Given the description of an element on the screen output the (x, y) to click on. 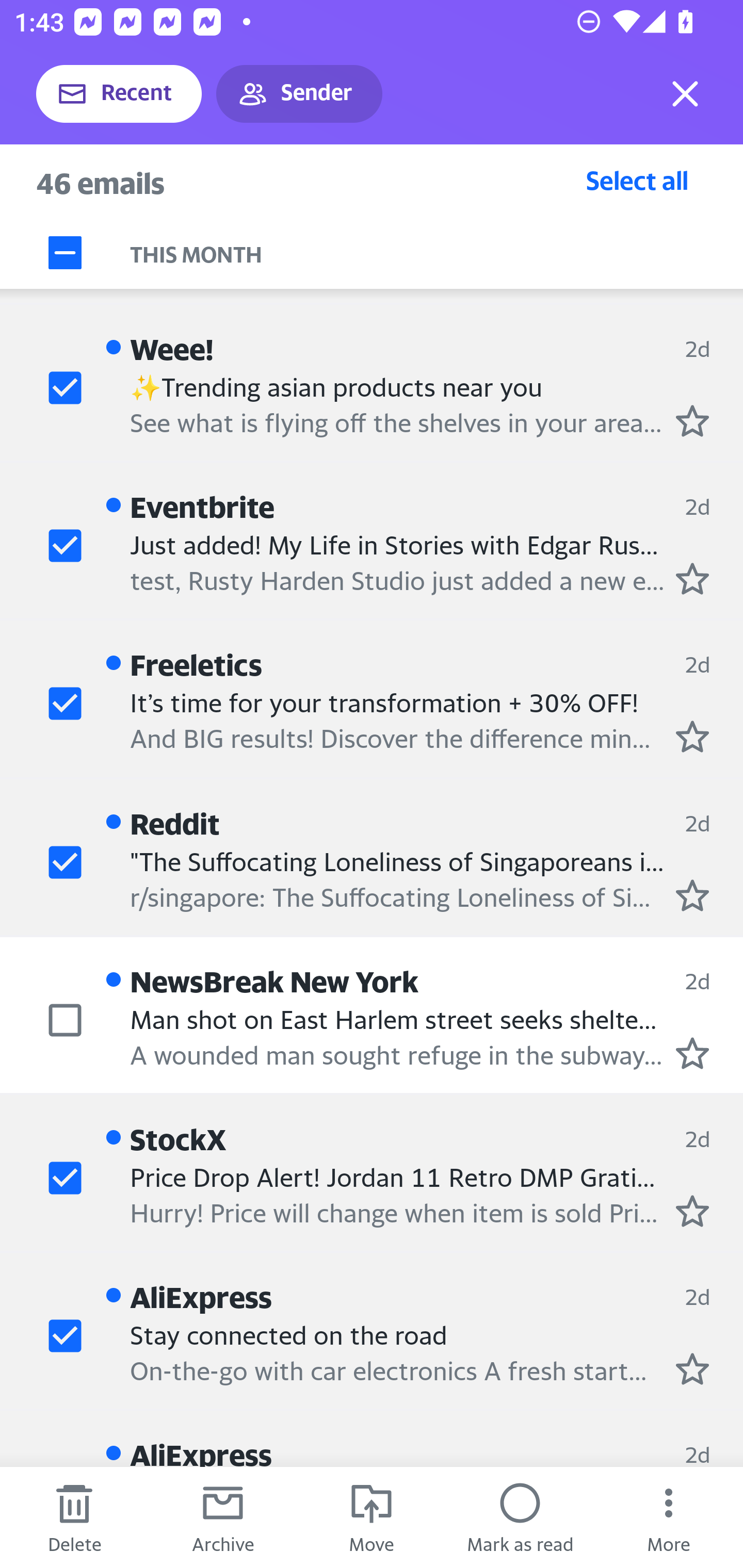
Sender (299, 93)
Exit selection mode (684, 93)
Select all (637, 180)
Mark as starred. (692, 420)
Mark as starred. (692, 579)
Mark as starred. (692, 736)
Mark as starred. (692, 896)
Mark as starred. (692, 1052)
Mark as starred. (692, 1211)
Mark as starred. (692, 1369)
Delete (74, 1517)
Archive (222, 1517)
Move (371, 1517)
Mark as read (519, 1517)
More (668, 1517)
